Given the description of an element on the screen output the (x, y) to click on. 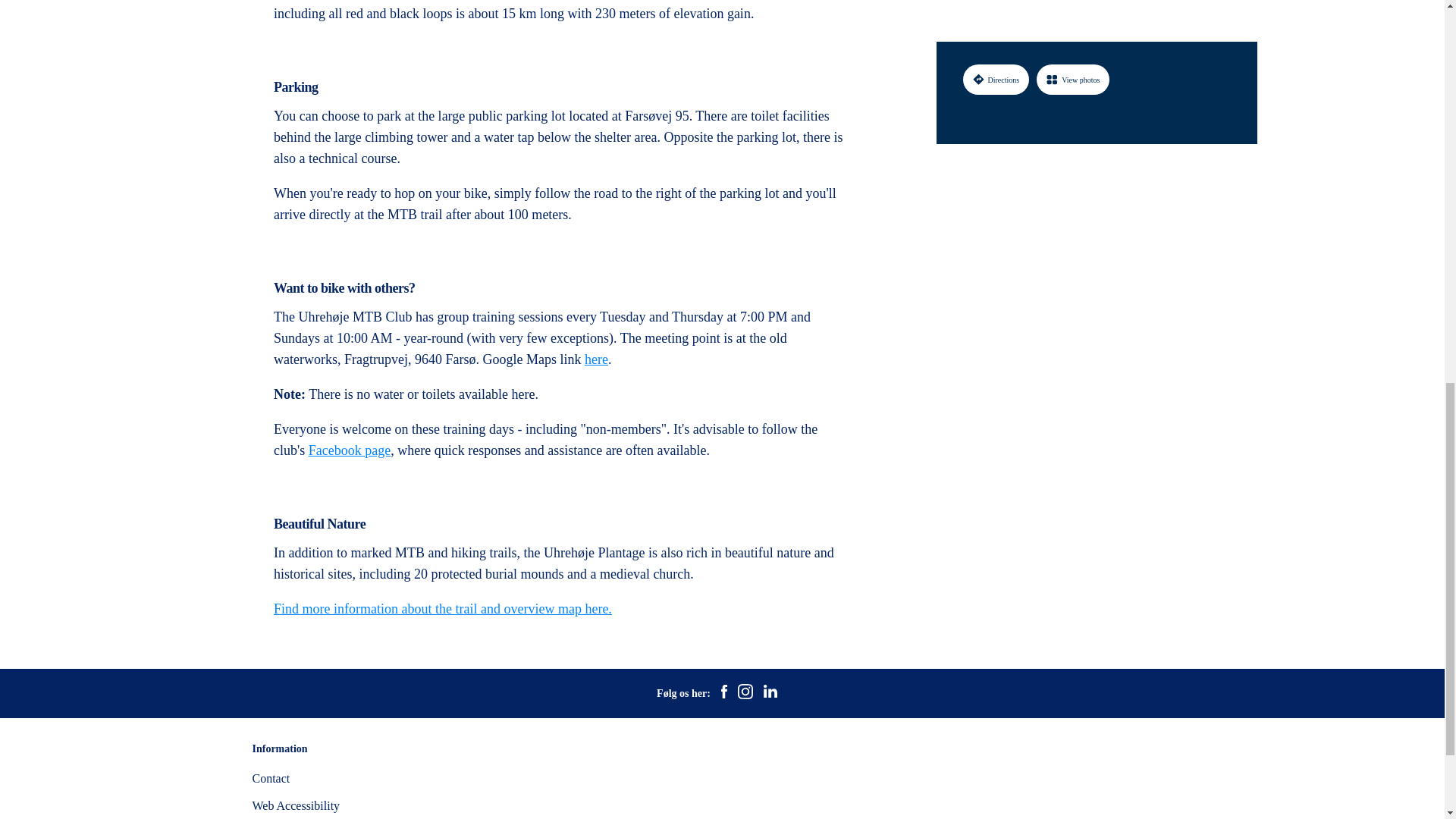
Find more information about the trail and overview map here. (442, 608)
Web Accessibility (295, 805)
Facebook page (349, 450)
instagram (745, 693)
facebook (724, 693)
here (596, 359)
Web Accessibility (295, 805)
linkedin (770, 692)
Contact (270, 778)
Contact (270, 778)
